Given the description of an element on the screen output the (x, y) to click on. 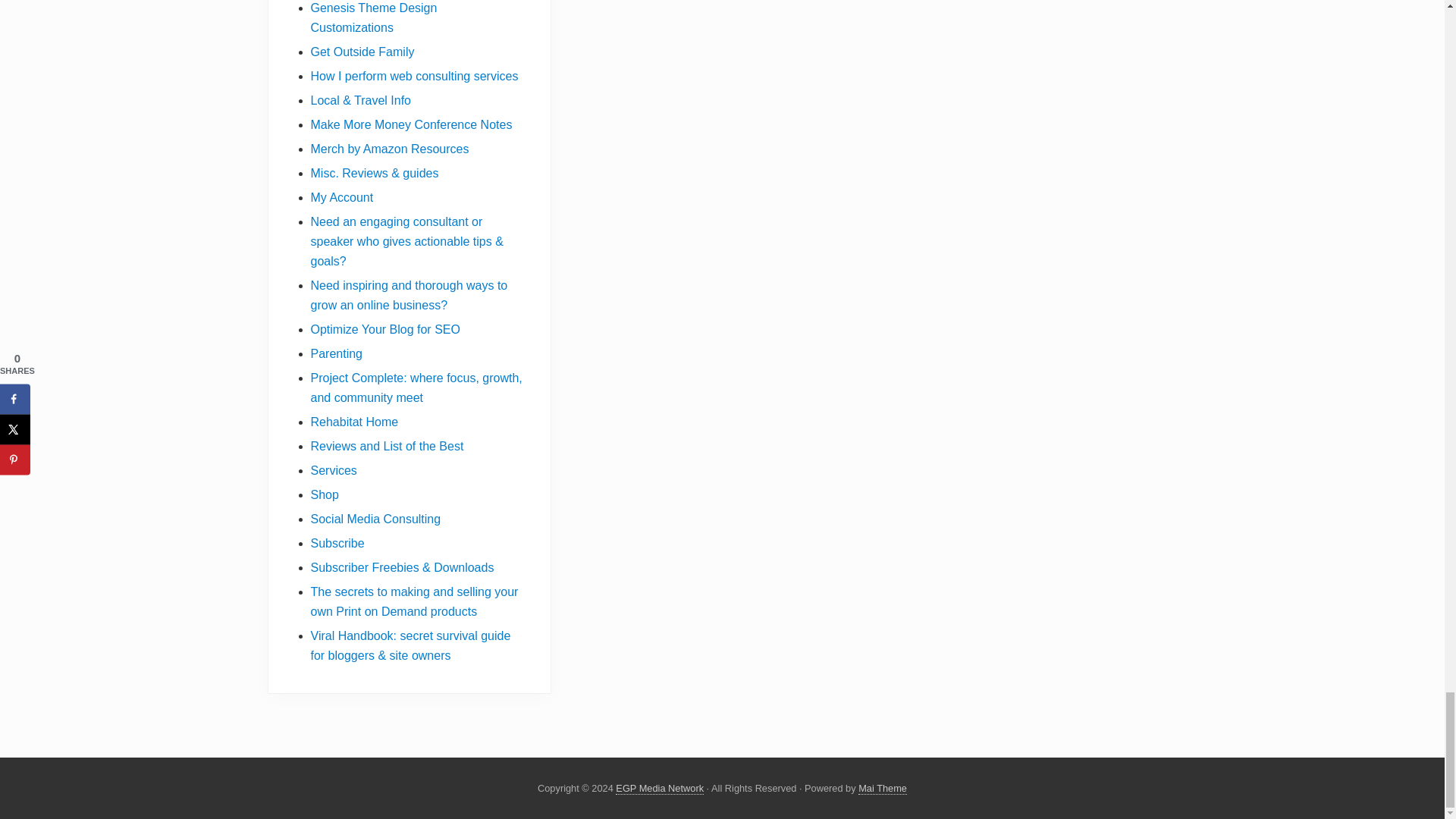
EGP Media Network (659, 788)
